Given the description of an element on the screen output the (x, y) to click on. 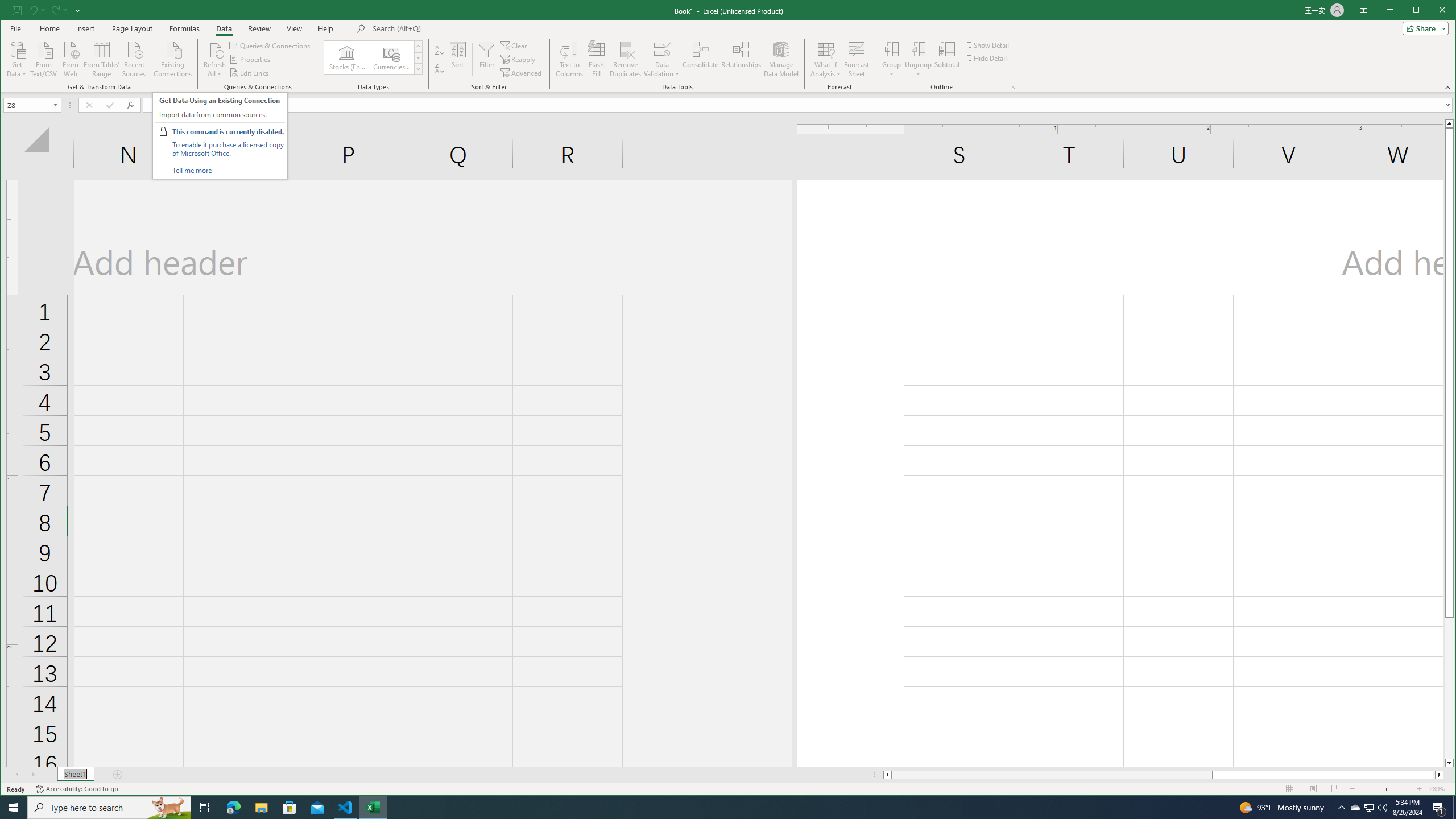
Notification Chevron (1341, 807)
Visual Studio Code - 1 running window (345, 807)
Consolidate... (700, 59)
